Given the description of an element on the screen output the (x, y) to click on. 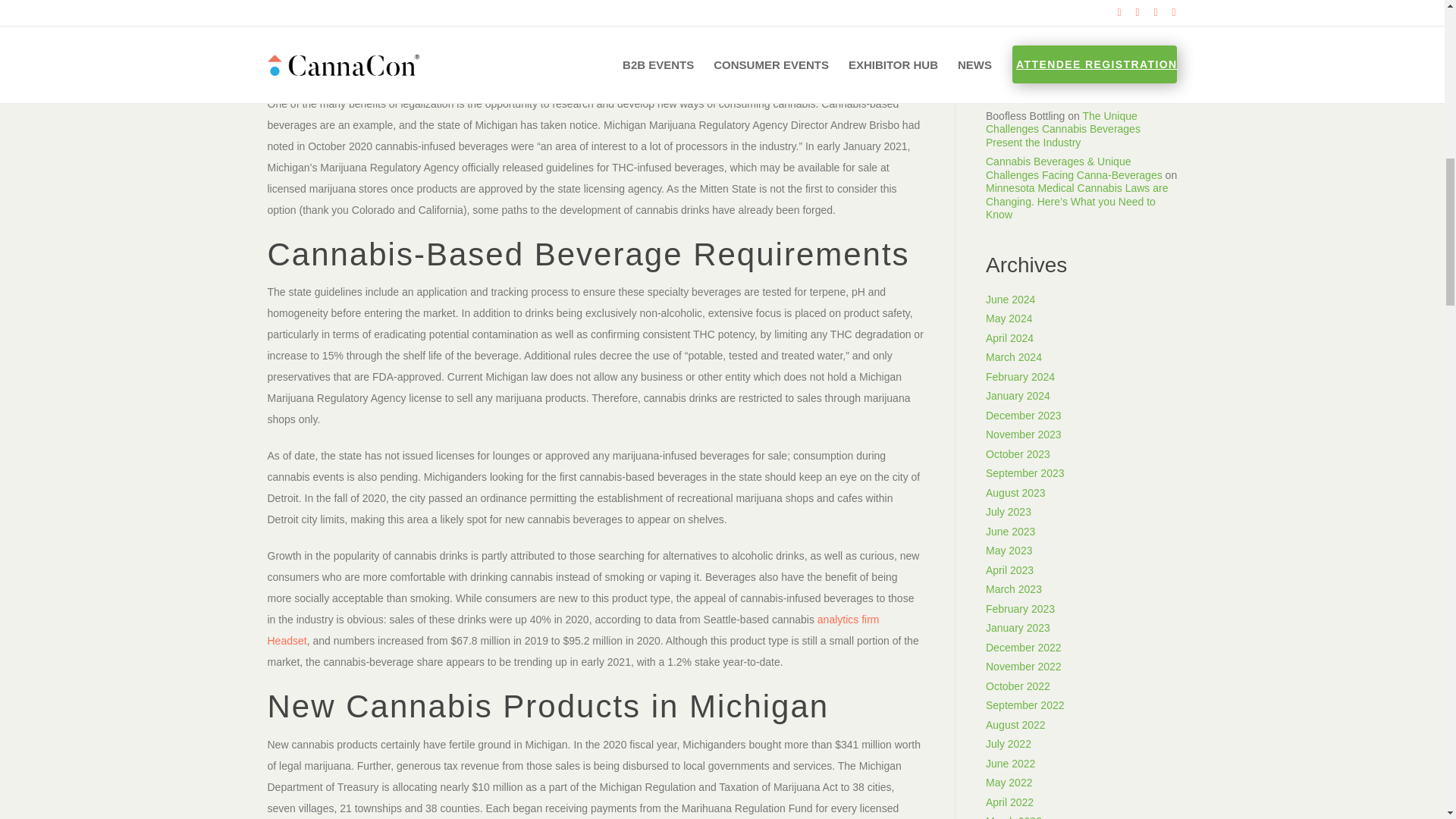
analytics firm Headset (572, 630)
